Given the description of an element on the screen output the (x, y) to click on. 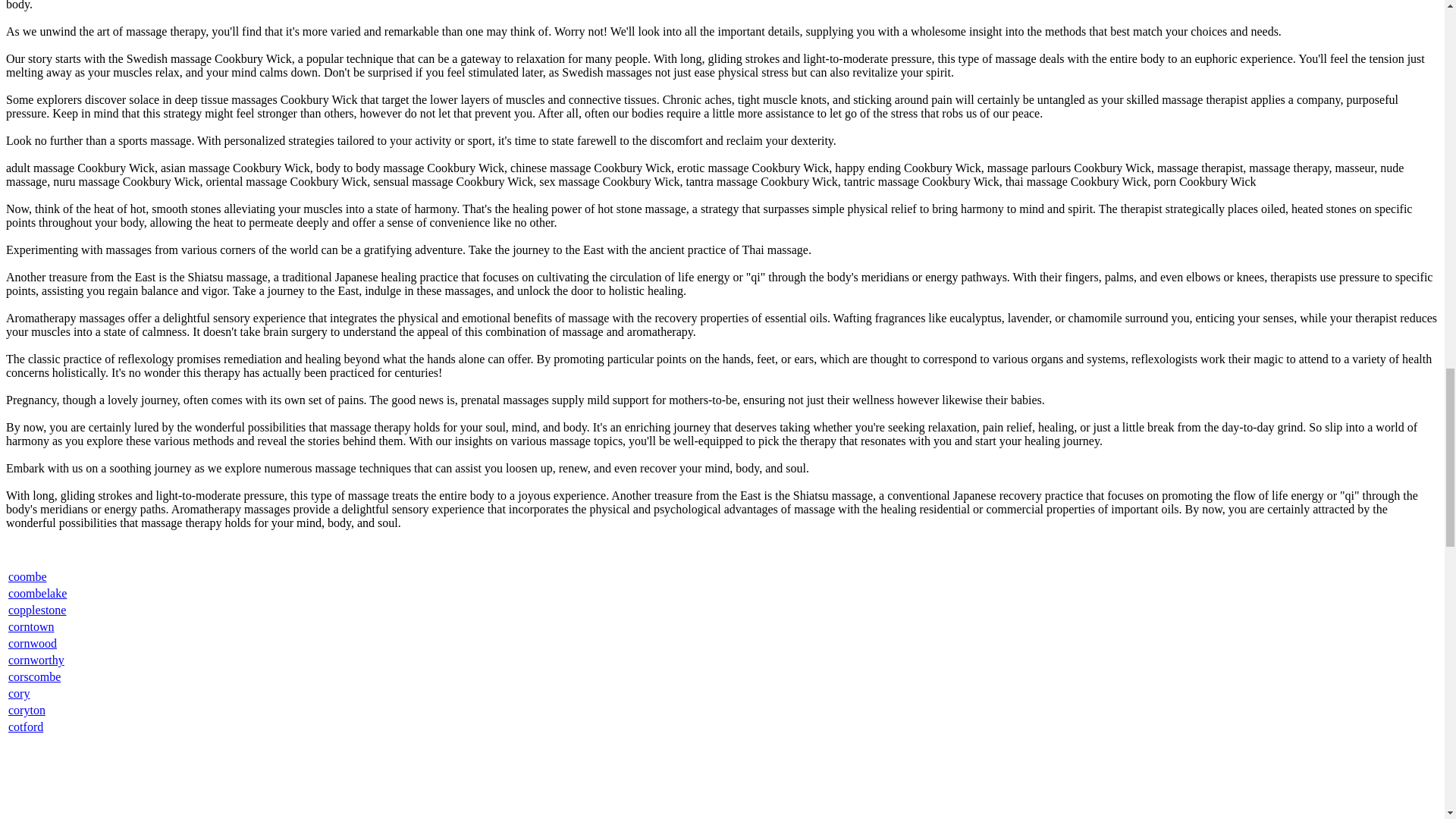
coombe (27, 576)
coombelake (37, 593)
copplestone (36, 609)
cotford (25, 726)
cornwood (32, 643)
cory (18, 693)
cornworthy (36, 659)
corscombe (34, 676)
corntown (30, 626)
coryton (26, 709)
